Given the description of an element on the screen output the (x, y) to click on. 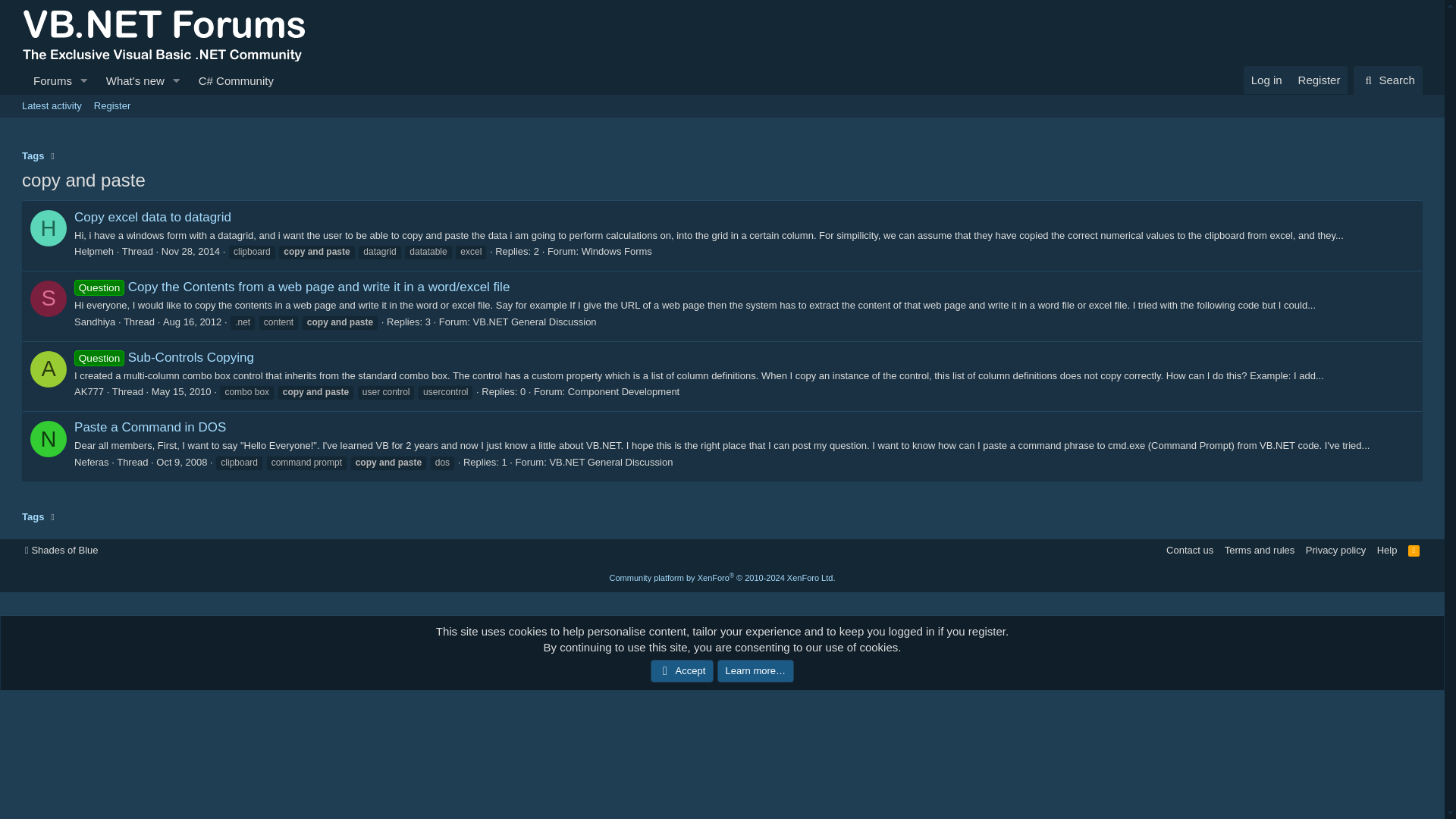
H (48, 227)
Component Development (623, 391)
S (48, 298)
A (48, 369)
What's new (129, 80)
Search (1388, 80)
Question Sub-Controls Copying (163, 357)
Aug 16, 2012 at 8:59 PM (192, 321)
Log in (1266, 80)
N (48, 438)
